Given the description of an element on the screen output the (x, y) to click on. 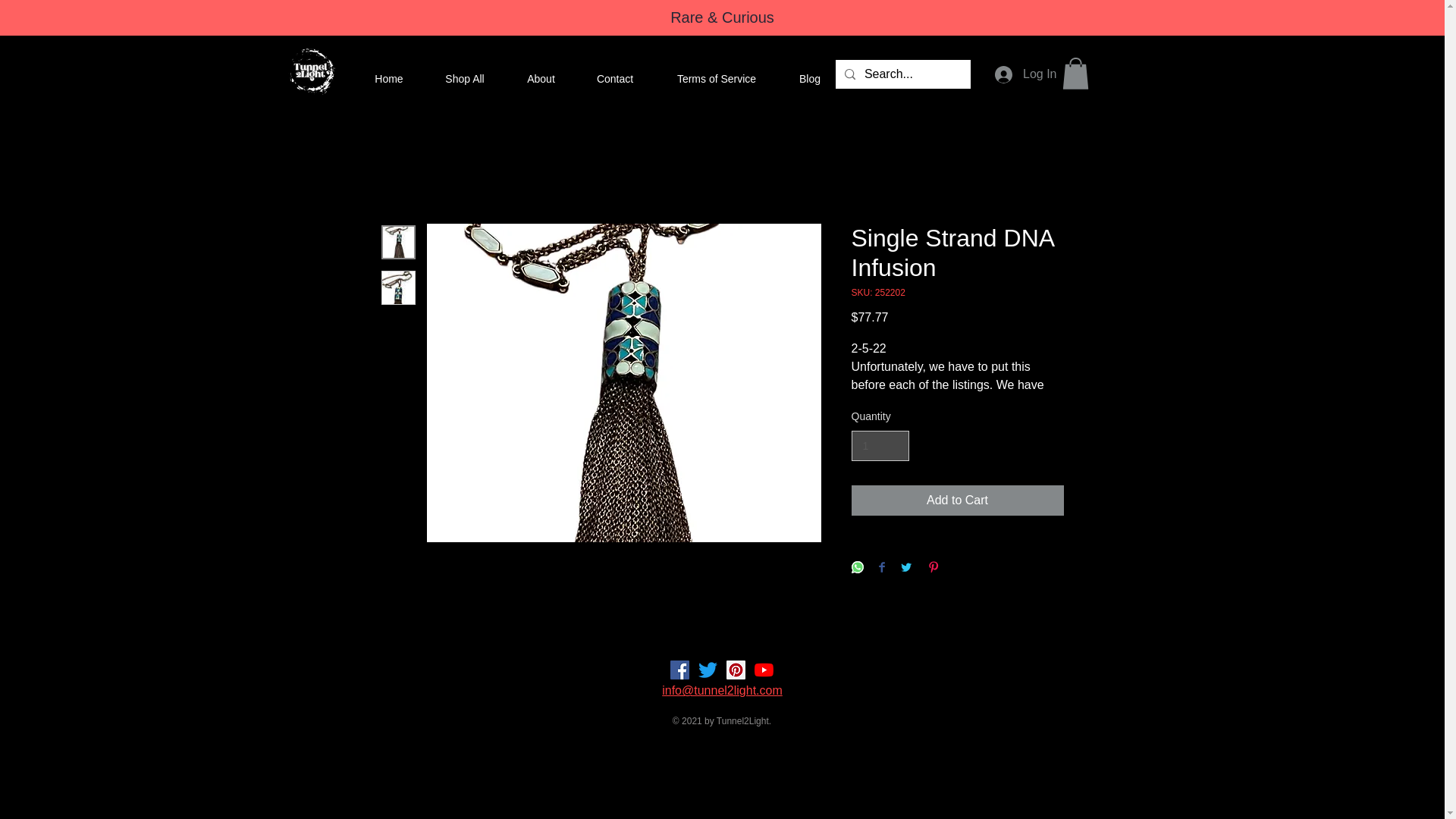
Shop All (464, 78)
Terms of Service (715, 78)
Log In (1025, 73)
Add to Cart (956, 500)
Contact (614, 78)
Blog (809, 78)
1 (879, 445)
About (541, 78)
Home (389, 78)
